Given the description of an element on the screen output the (x, y) to click on. 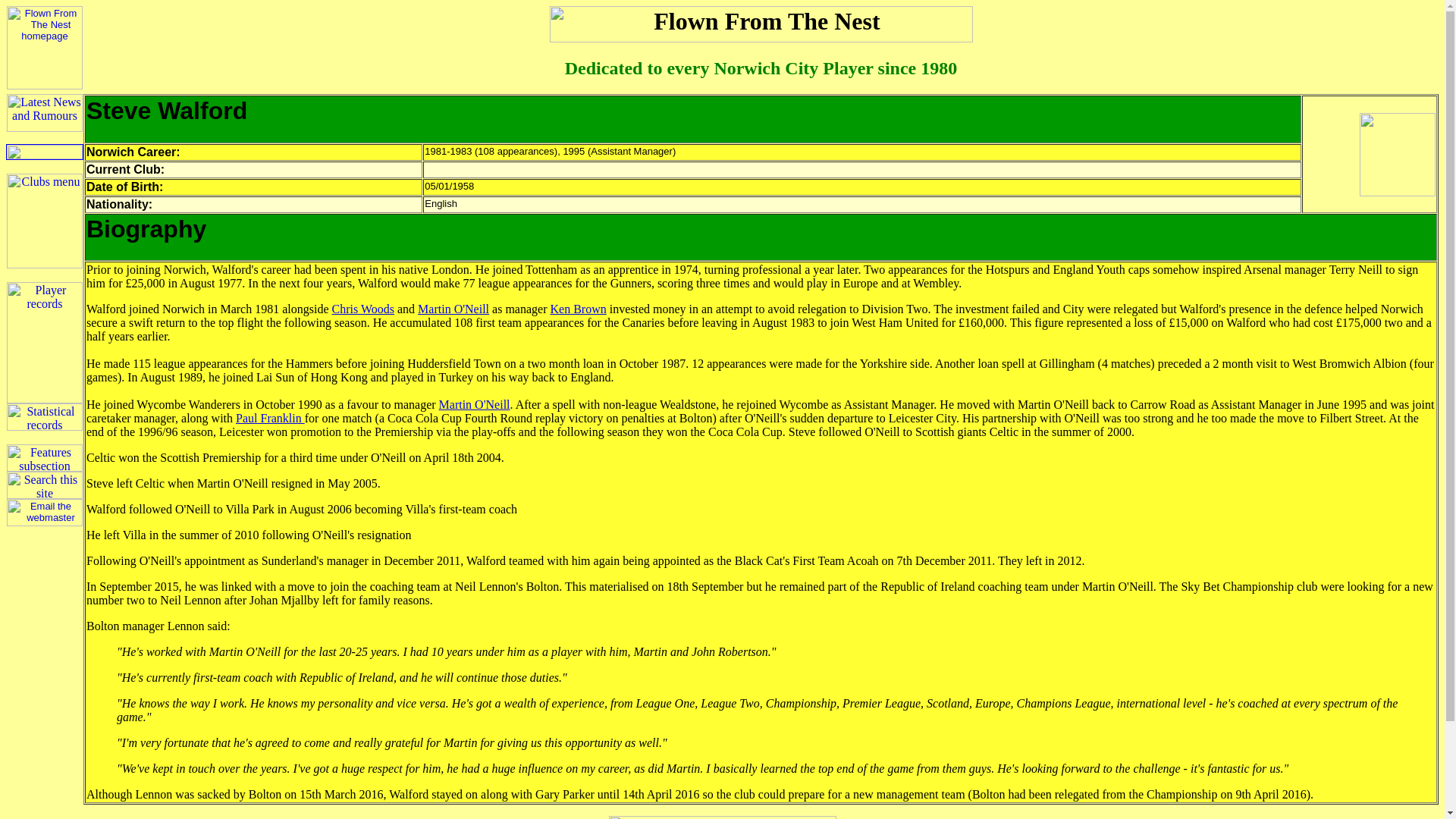
Chris Woods (362, 308)
Paul Franklin (269, 418)
Martin O'Neill (453, 308)
Ken Brown (577, 308)
Martin O'Neill (475, 404)
